Given the description of an element on the screen output the (x, y) to click on. 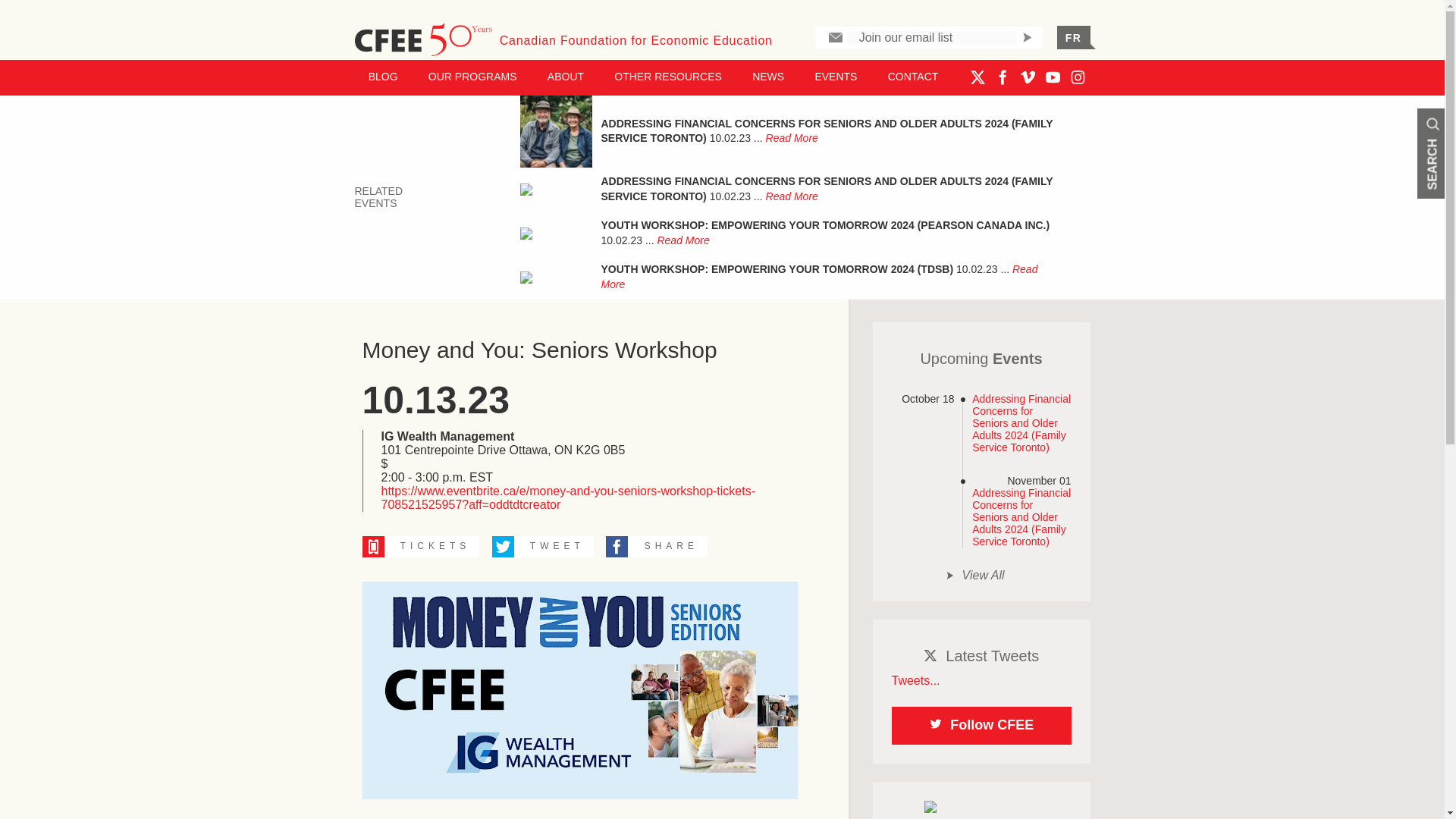
Read More (791, 196)
TWEET (538, 545)
EVENTS (835, 76)
NEWS (767, 76)
BLOG (383, 76)
TICKETS (416, 545)
Read More (791, 137)
OTHER RESOURCES (667, 76)
OUR PROGRAMS (472, 76)
ABOUT (566, 76)
